Given the description of an element on the screen output the (x, y) to click on. 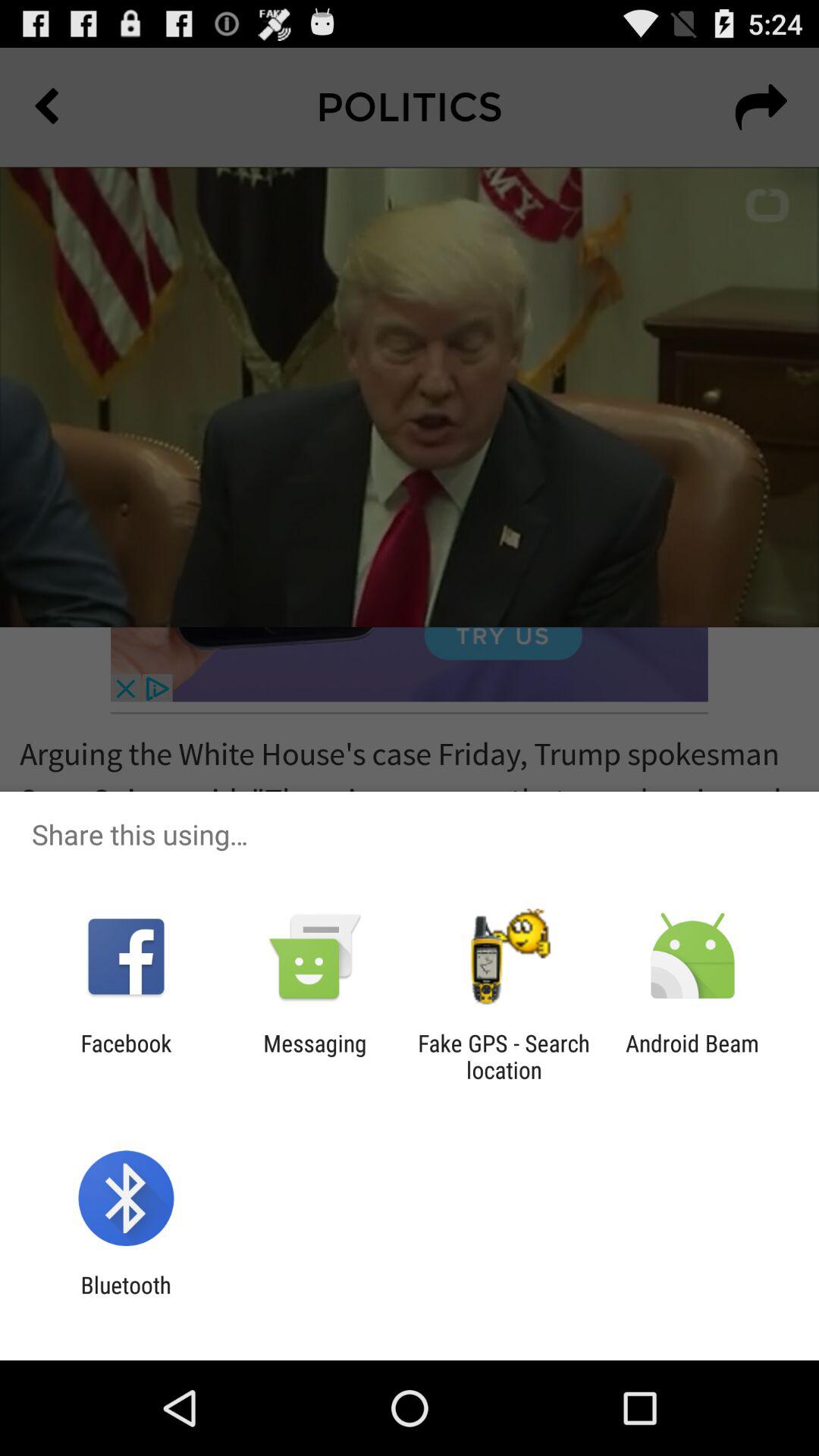
turn off the android beam (692, 1056)
